Given the description of an element on the screen output the (x, y) to click on. 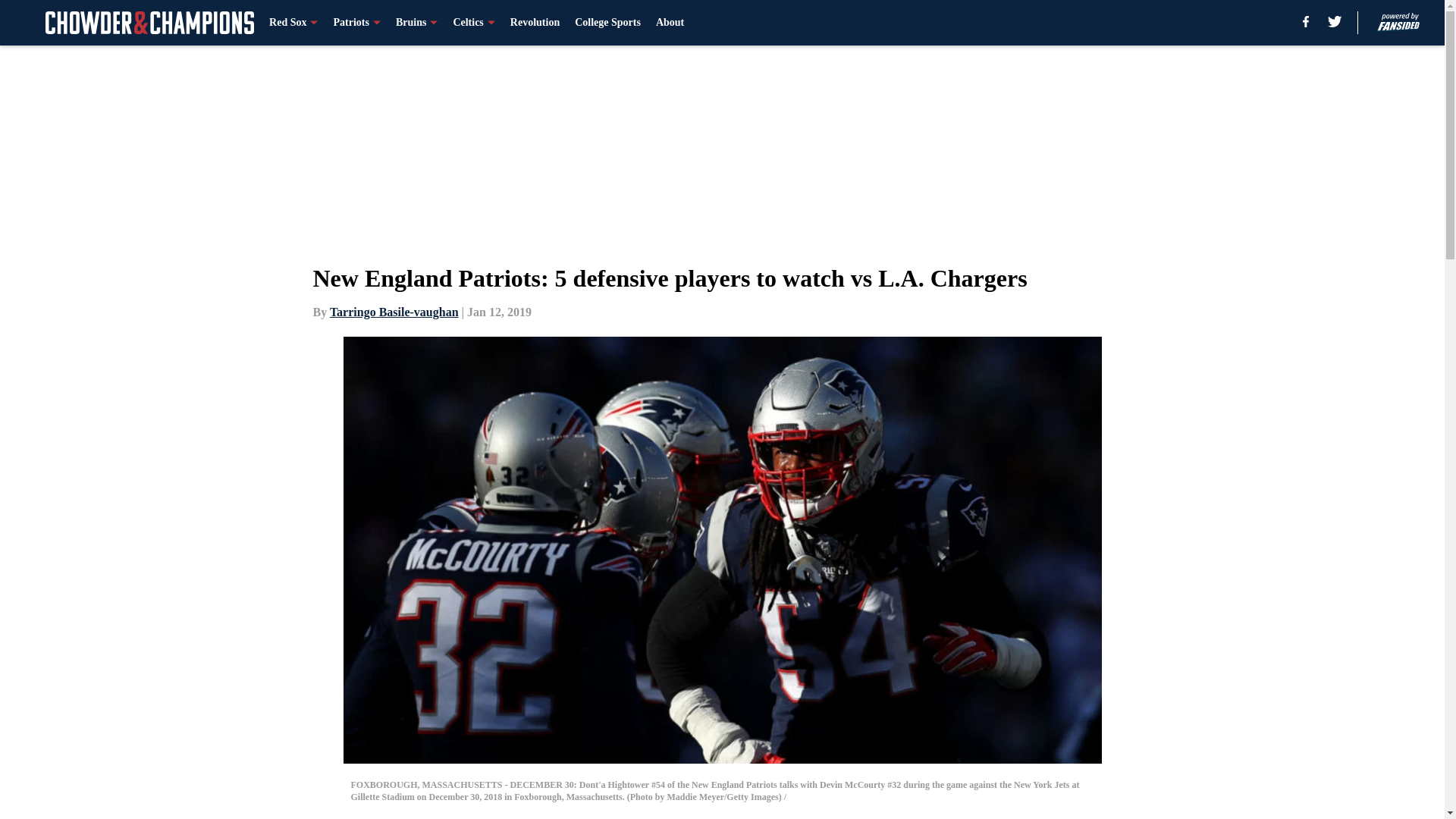
Revolution (535, 22)
College Sports (607, 22)
Tarringo Basile-vaughan (394, 311)
About (670, 22)
